Given the description of an element on the screen output the (x, y) to click on. 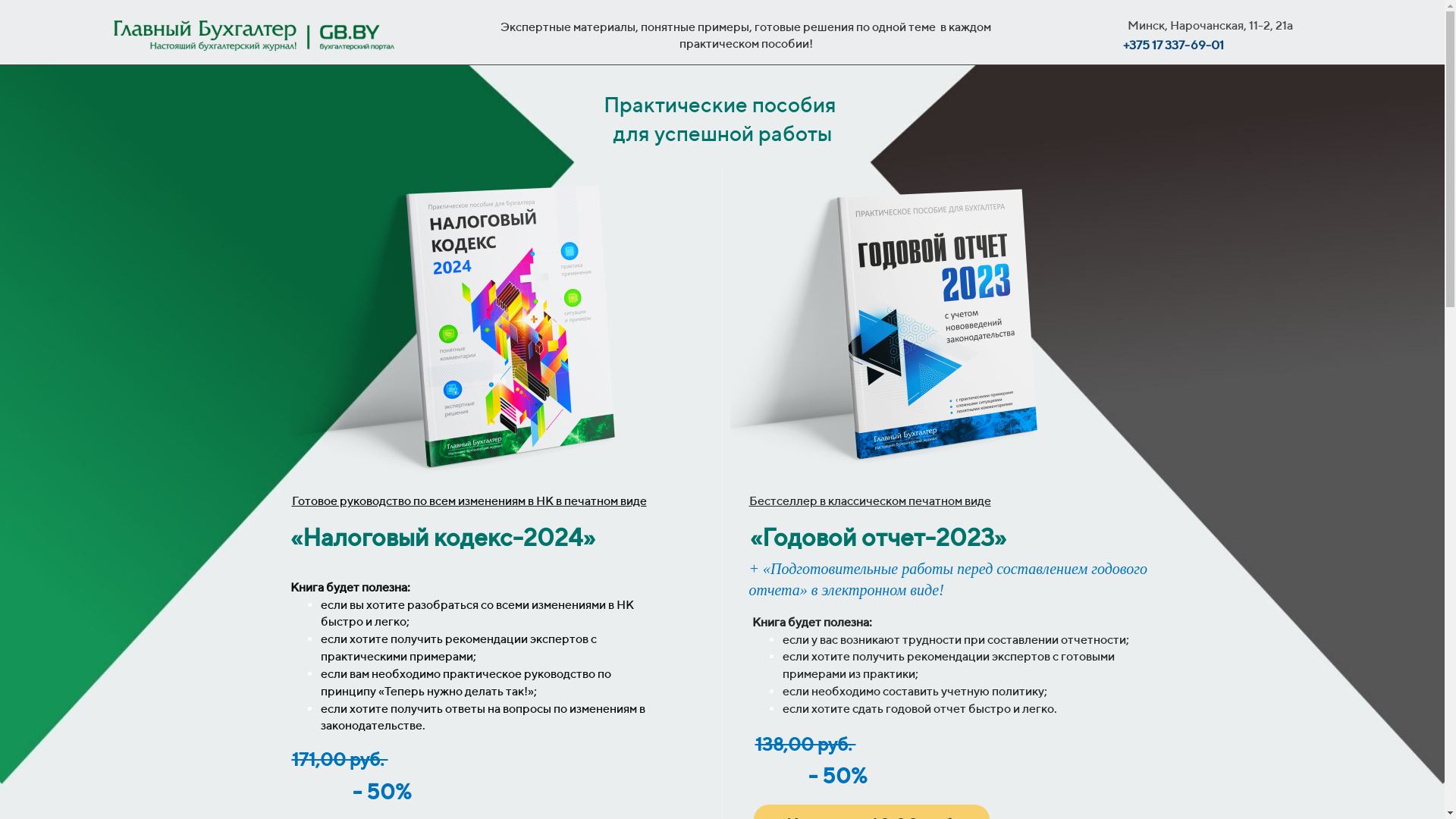
+375 17 337-69-01 Element type: text (1173, 45)
